Given the description of an element on the screen output the (x, y) to click on. 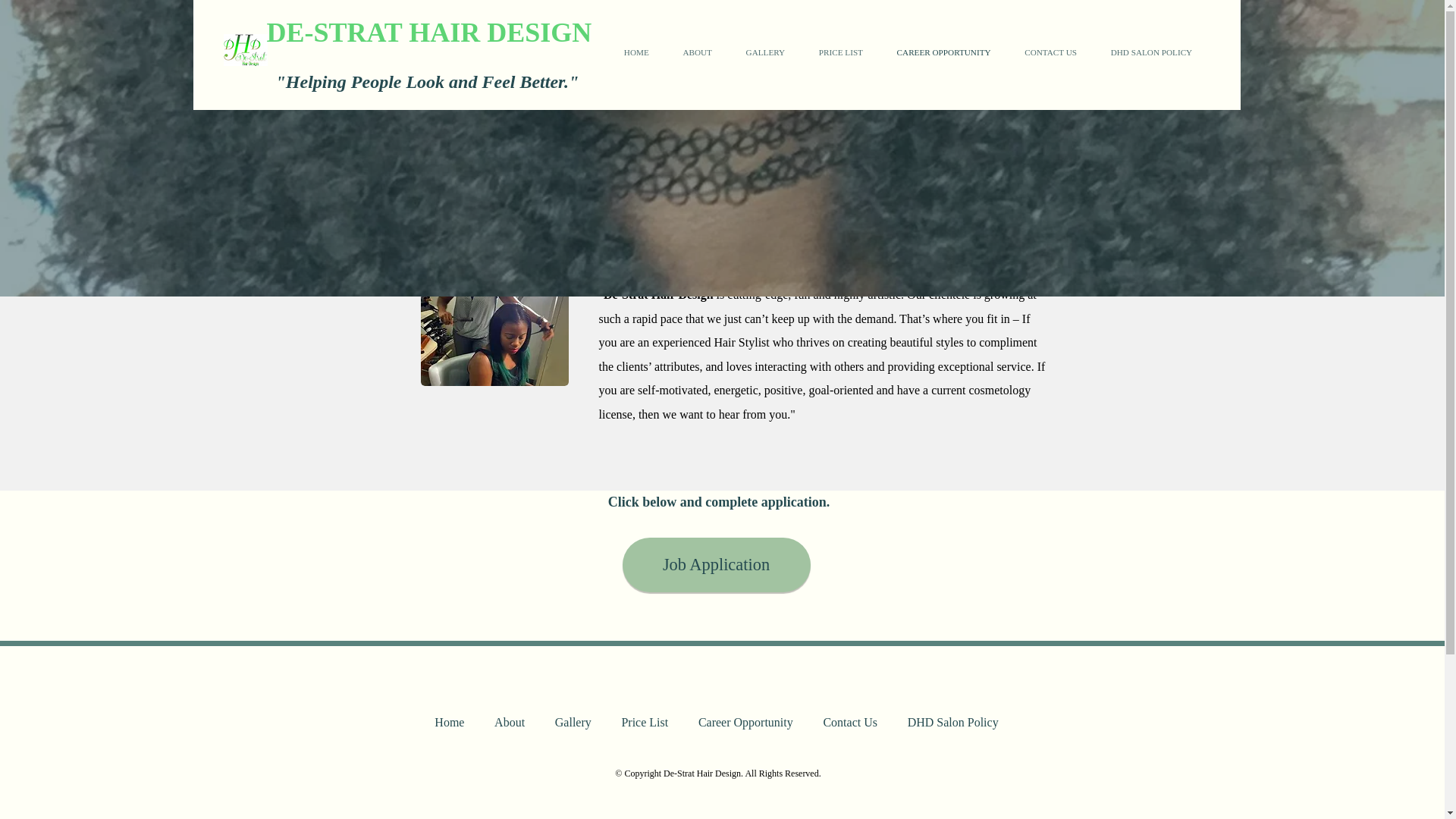
Price List (644, 722)
CONTACT US (1050, 52)
HOME (636, 52)
DHD SALON POLICY (1150, 52)
About (509, 722)
Contact Us (850, 722)
Home (450, 722)
GALLERY (765, 52)
DHD Salon Policy (952, 722)
  "Helping People Look and Feel Better." (422, 85)
Gallery (573, 722)
CAREER OPPORTUNITY (943, 52)
Career Opportunity (745, 722)
PRICE LIST (841, 52)
